Given the description of an element on the screen output the (x, y) to click on. 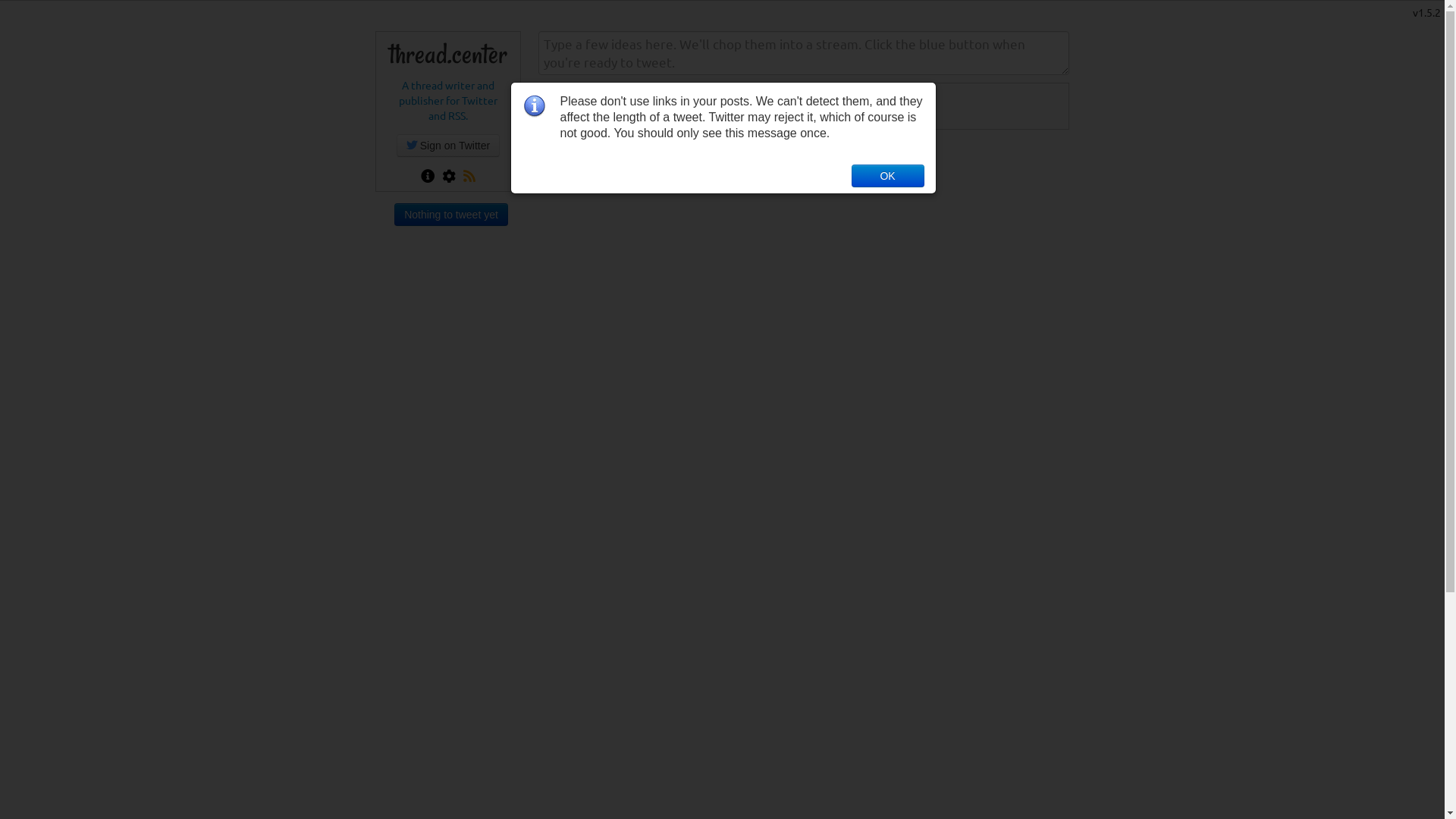
OK Element type: text (886, 174)
A thread writer and publisher for Twitter and RSS. Element type: text (447, 100)
Sign on Twitter Element type: text (447, 145)
Nothing to tweet yet Element type: text (451, 214)
